Given the description of an element on the screen output the (x, y) to click on. 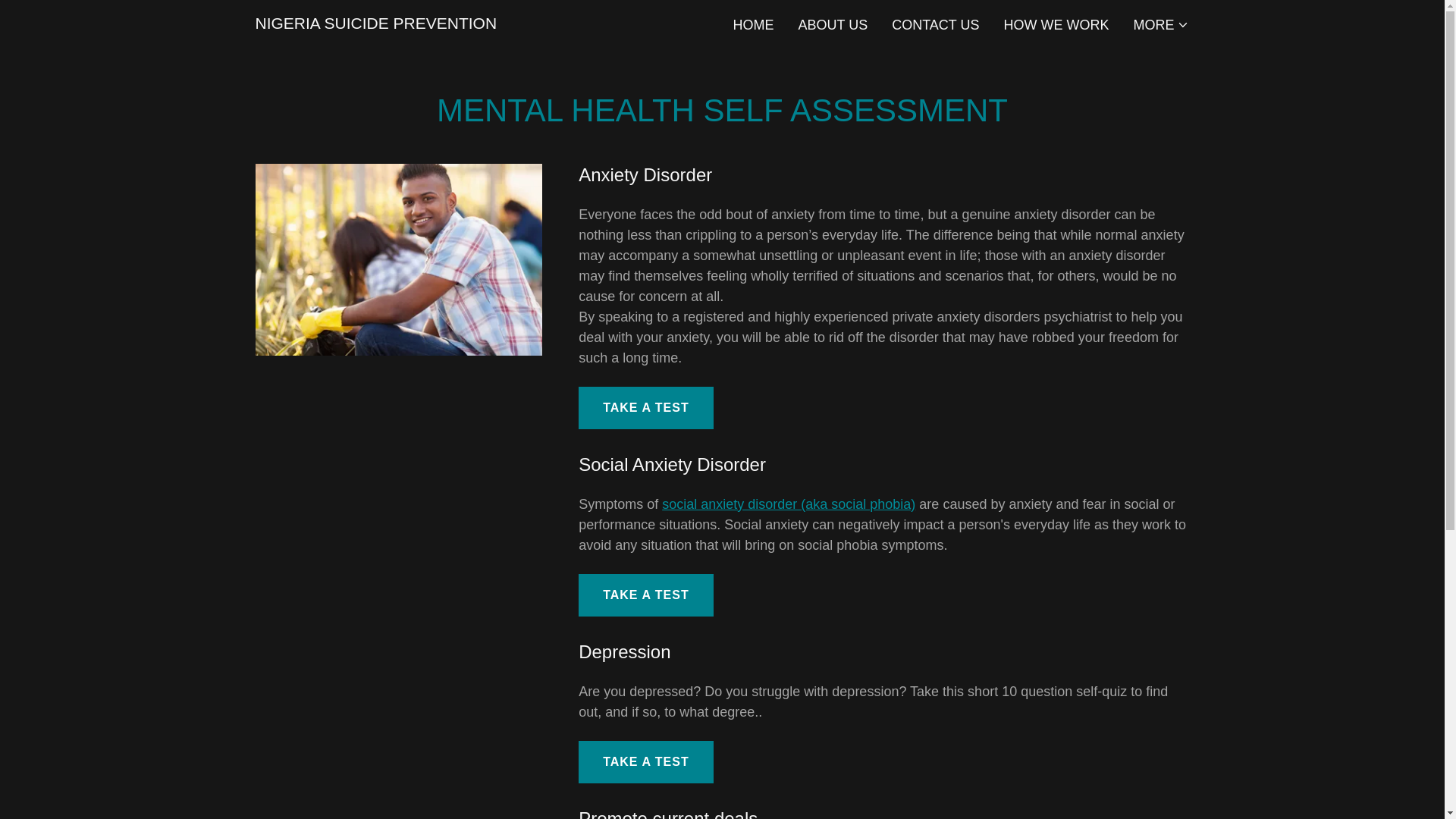
ABOUT US (832, 24)
HOW WE WORK (1055, 24)
CONTACT US (935, 24)
Nigeria Suicide Prevention (375, 23)
MORE (1160, 24)
HOME (752, 24)
NIGERIA SUICIDE PREVENTION (375, 23)
TAKE A TEST (645, 407)
TAKE A TEST (645, 595)
